Given the description of an element on the screen output the (x, y) to click on. 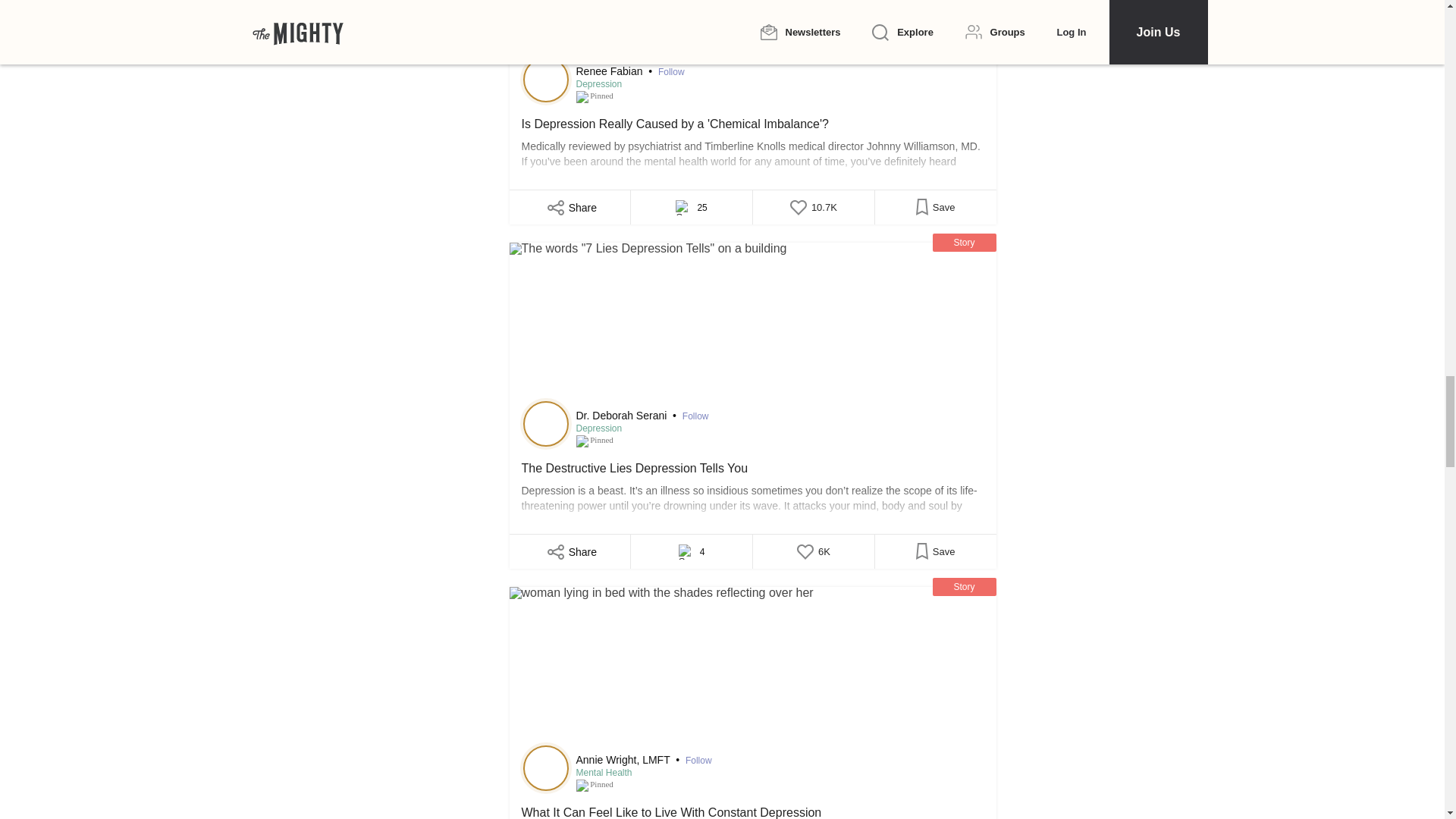
Is Depression Really Caused by a 'Chemical Imbalance'? (752, 30)
Visit Renee Fabian's profile (545, 79)
Is Depression Really Caused by a 'Chemical Imbalance'? (752, 144)
The Destructive Lies Depression Tells You (752, 323)
